Given the description of an element on the screen output the (x, y) to click on. 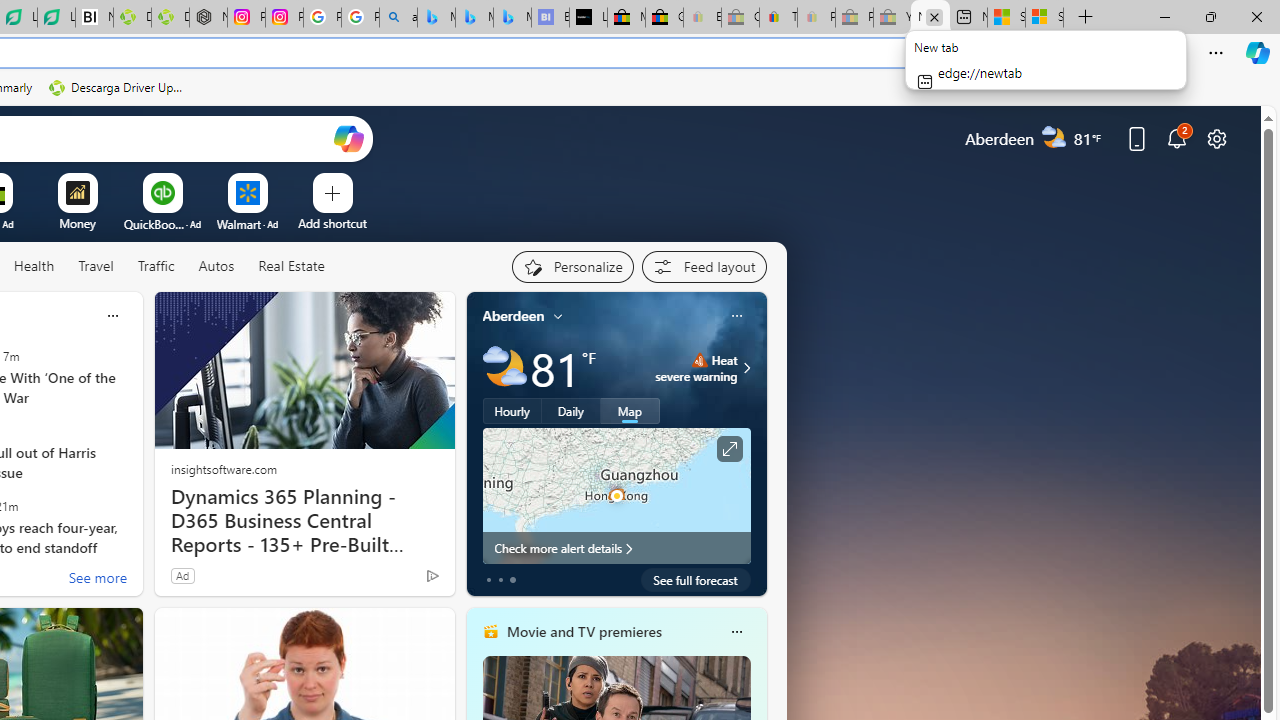
Money (77, 223)
LendingTree - Compare Lenders (56, 17)
Heat - Severe Heat severe warning (696, 367)
Class: weather-arrow-glyph (746, 367)
Add a site (332, 223)
My location (558, 315)
Microsoft Bing Travel - Shangri-La Hotel Bangkok (512, 17)
tab-2 (511, 579)
Real Estate (291, 265)
Open Copilot (347, 138)
Traffic (155, 267)
